Given the description of an element on the screen output the (x, y) to click on. 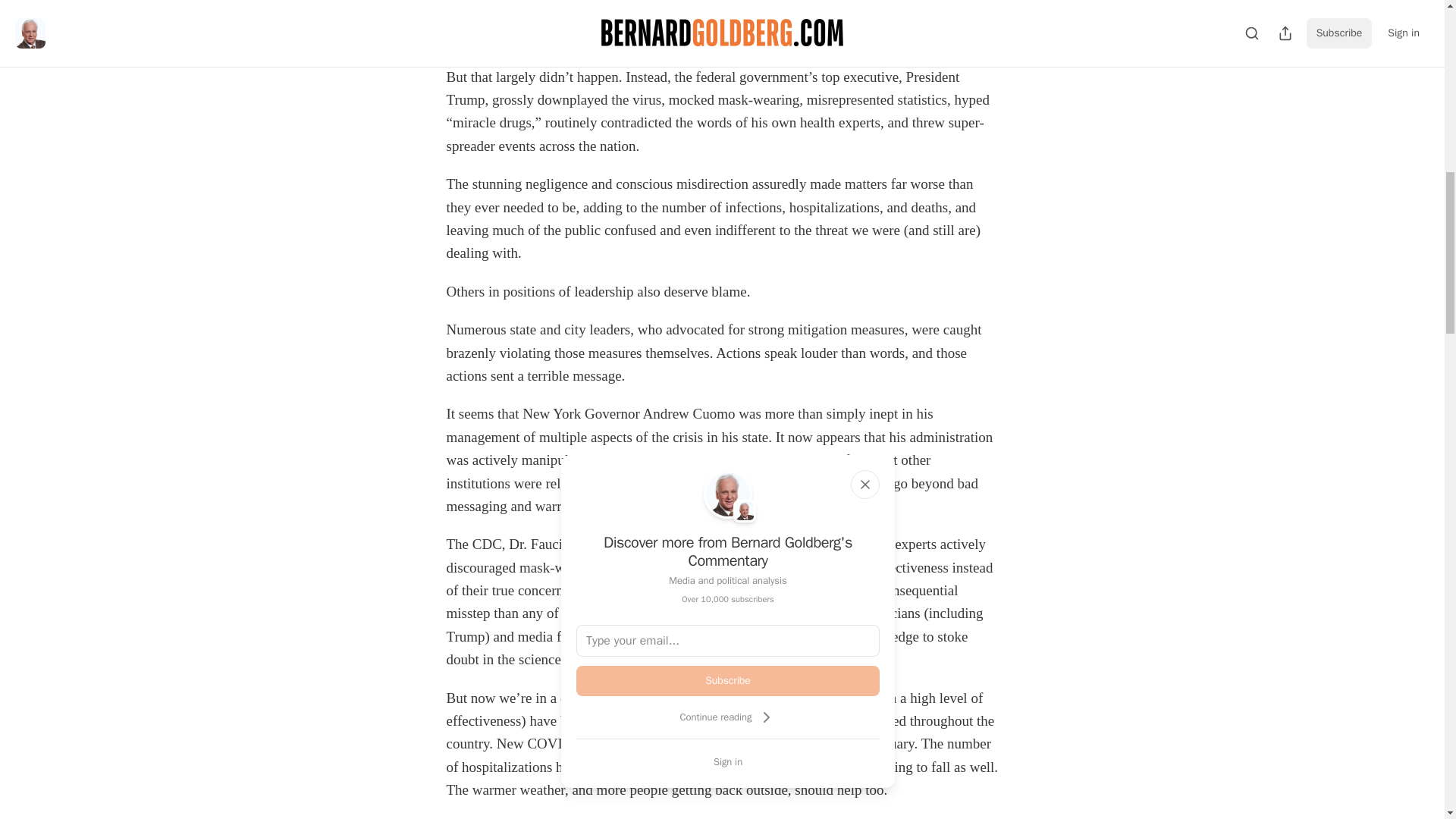
Sign in (727, 761)
Subscribe (727, 680)
40 straight days (705, 766)
